Given the description of an element on the screen output the (x, y) to click on. 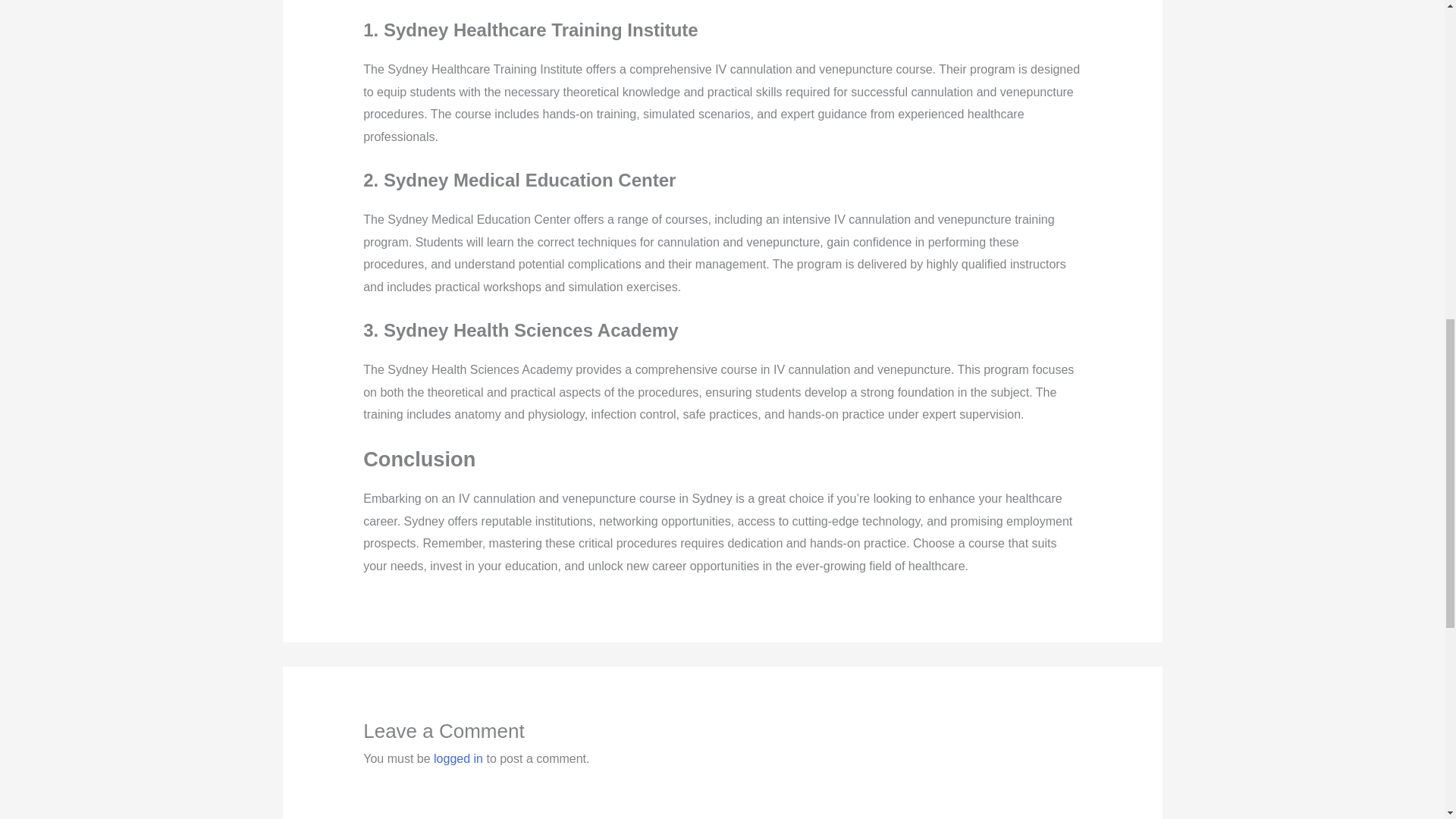
logged in (458, 758)
